Given the description of an element on the screen output the (x, y) to click on. 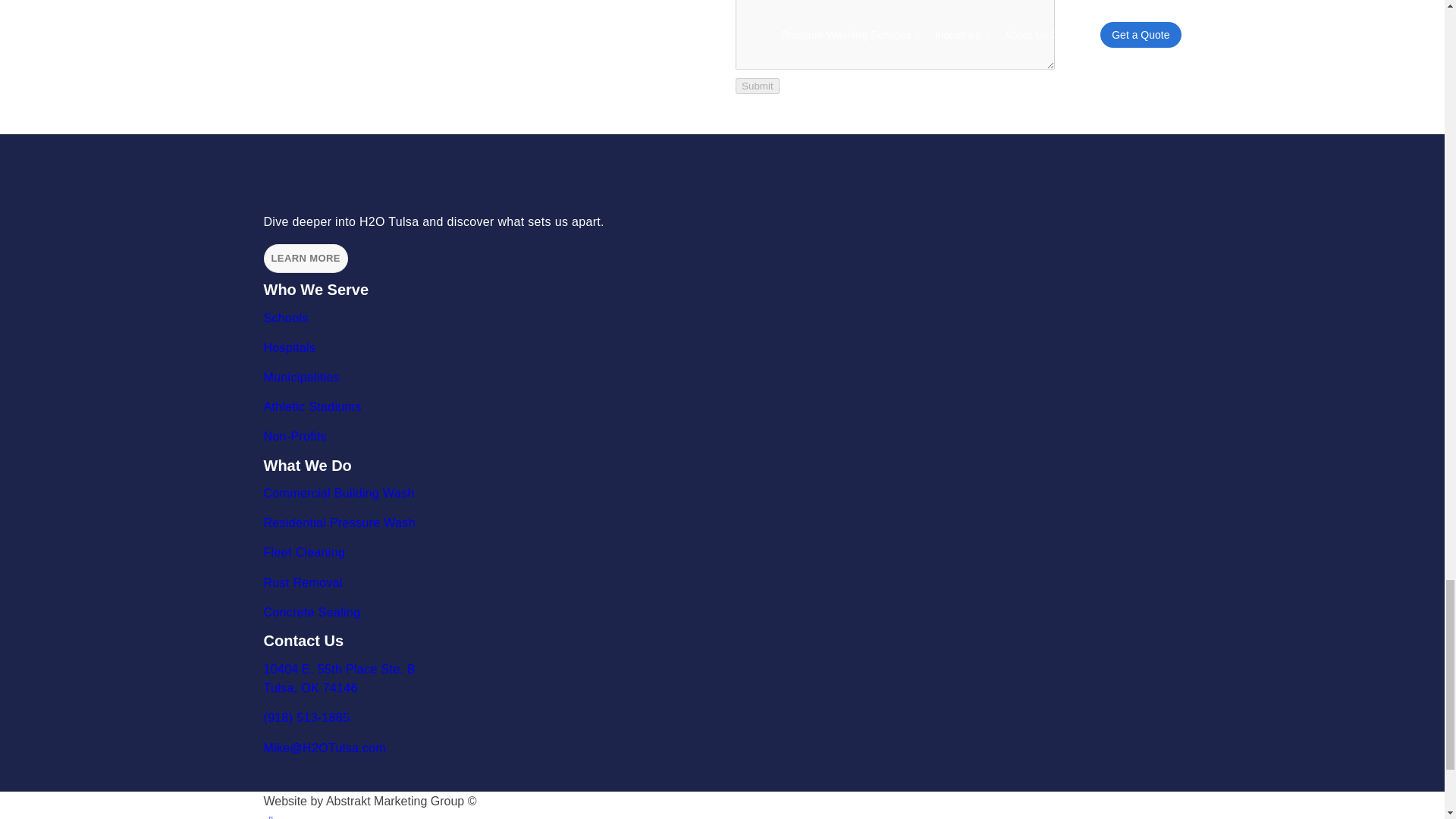
LEARN MORE (305, 258)
Submit (756, 85)
Submit (756, 85)
Schools  (288, 318)
Hospitals  (290, 347)
